Given the description of an element on the screen output the (x, y) to click on. 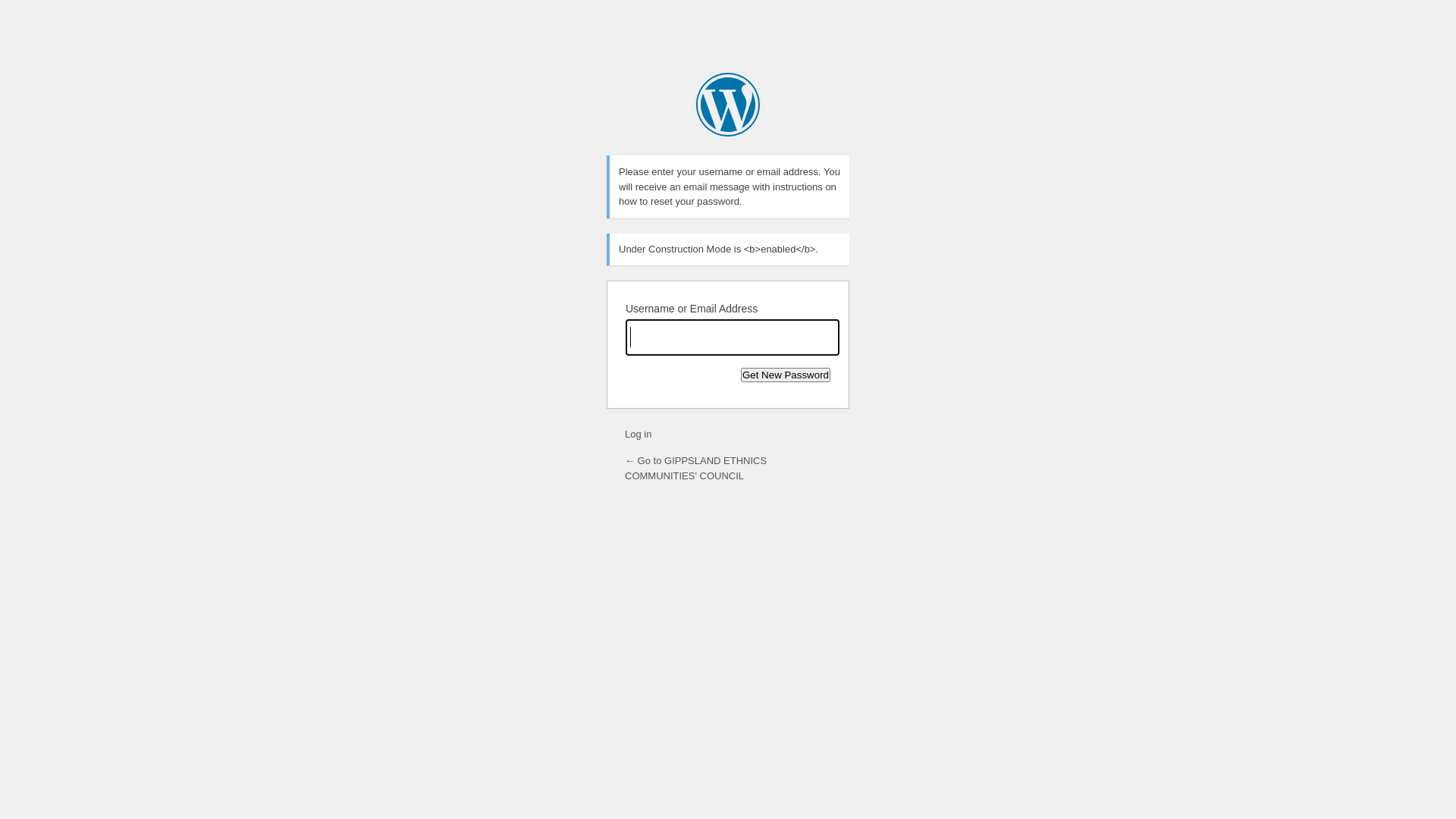
Get New Password Element type: text (785, 374)
Powered by WordPress Element type: text (727, 104)
Log in Element type: text (637, 433)
